Given the description of an element on the screen output the (x, y) to click on. 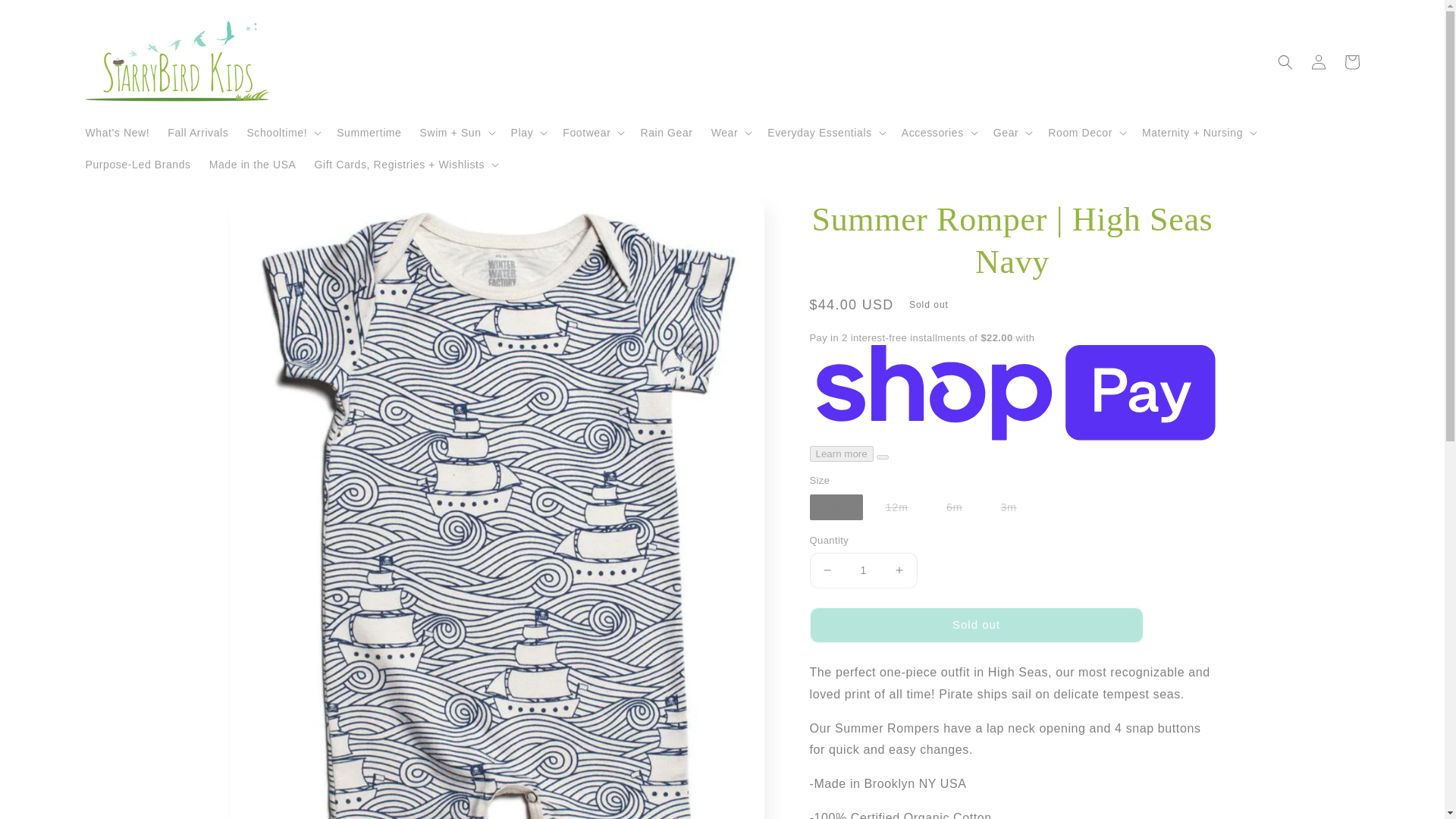
1 (863, 570)
Skip to content (45, 17)
